Given the description of an element on the screen output the (x, y) to click on. 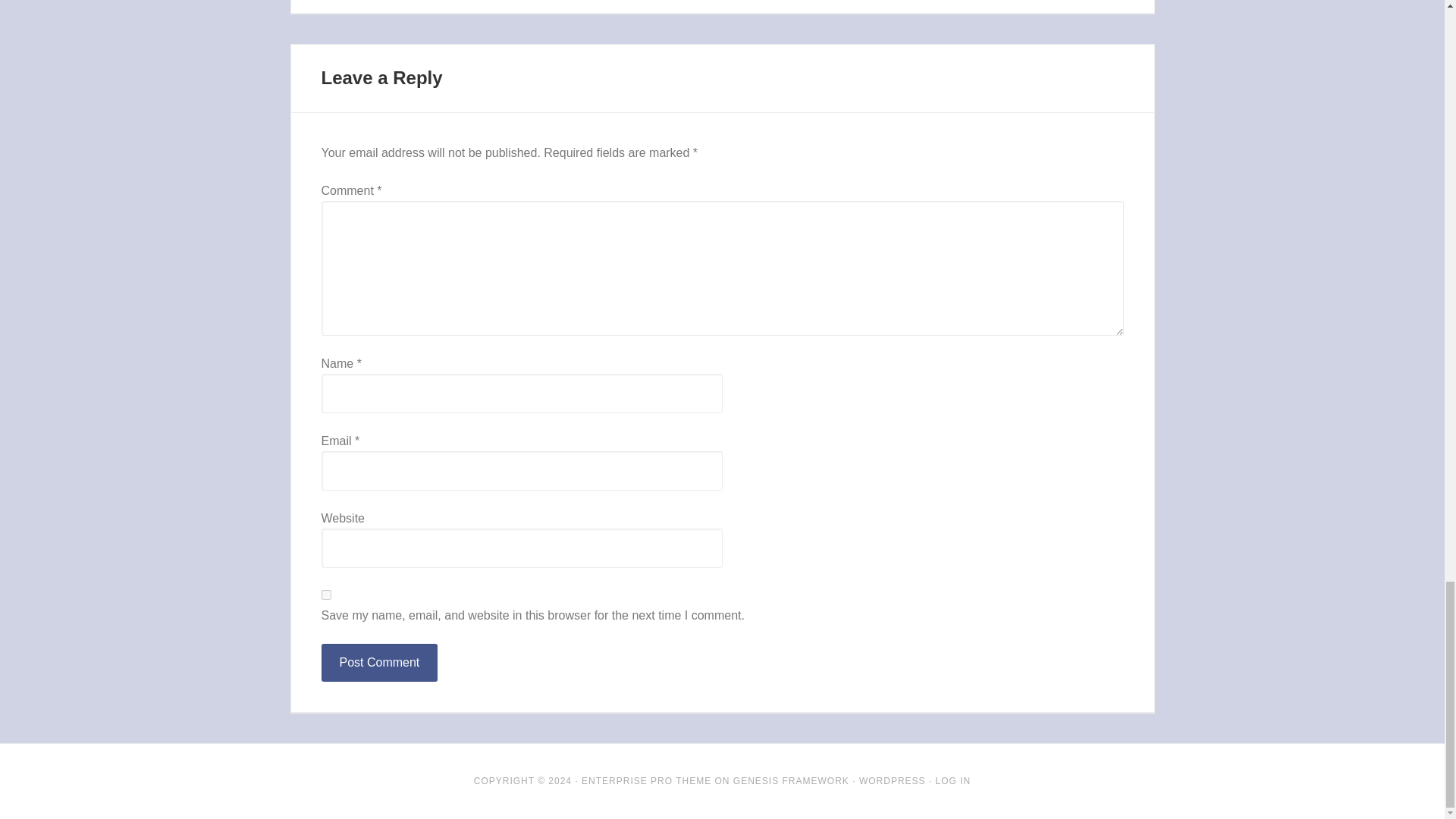
yes (326, 594)
Post Comment (379, 662)
GENESIS FRAMEWORK (790, 780)
WORDPRESS (892, 780)
ENTERPRISE PRO THEME (645, 780)
Post Comment (379, 662)
LOG IN (953, 780)
